Given the description of an element on the screen output the (x, y) to click on. 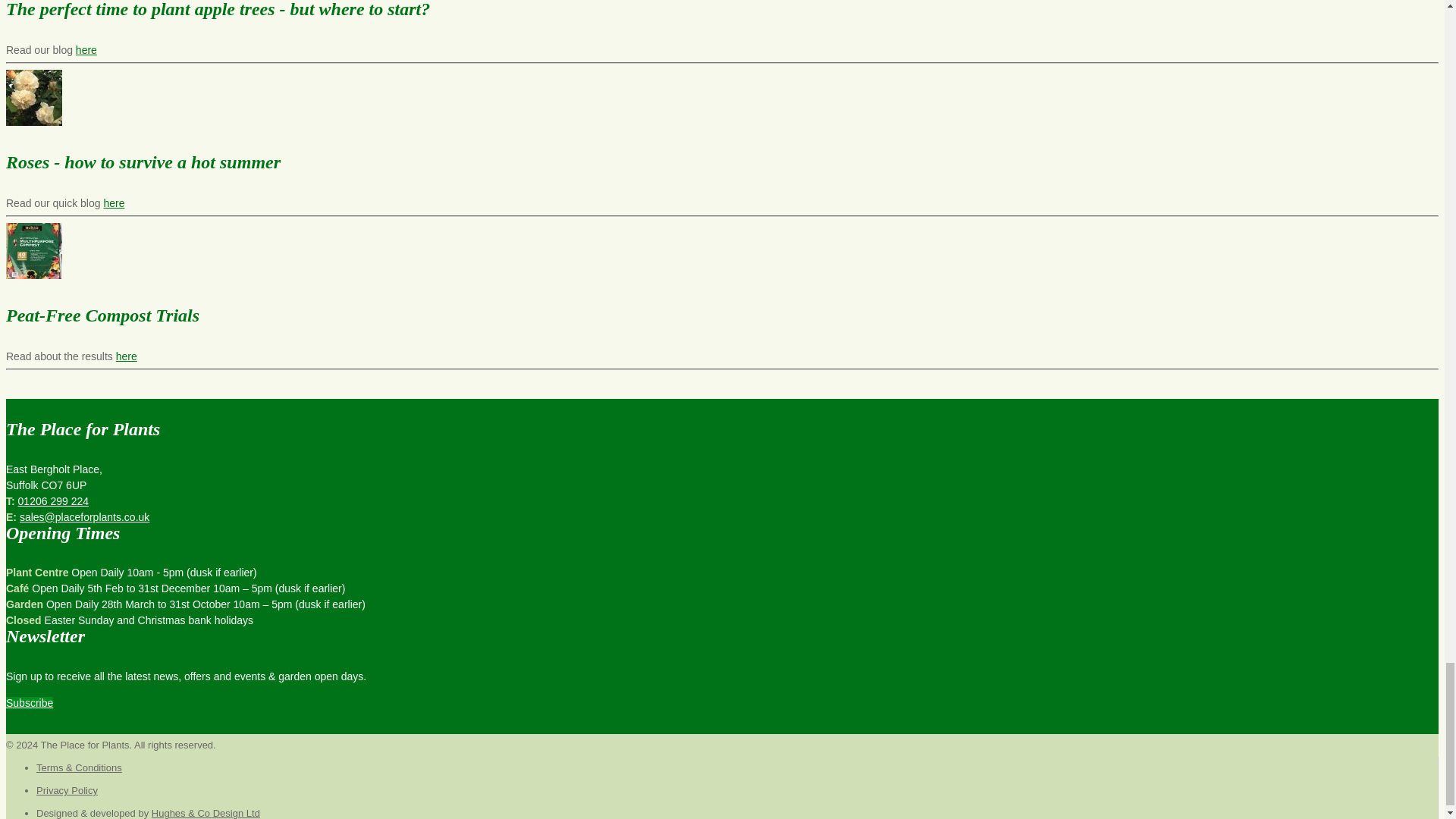
here (86, 50)
01206 299 224 (52, 500)
here (113, 203)
here (126, 356)
